Given the description of an element on the screen output the (x, y) to click on. 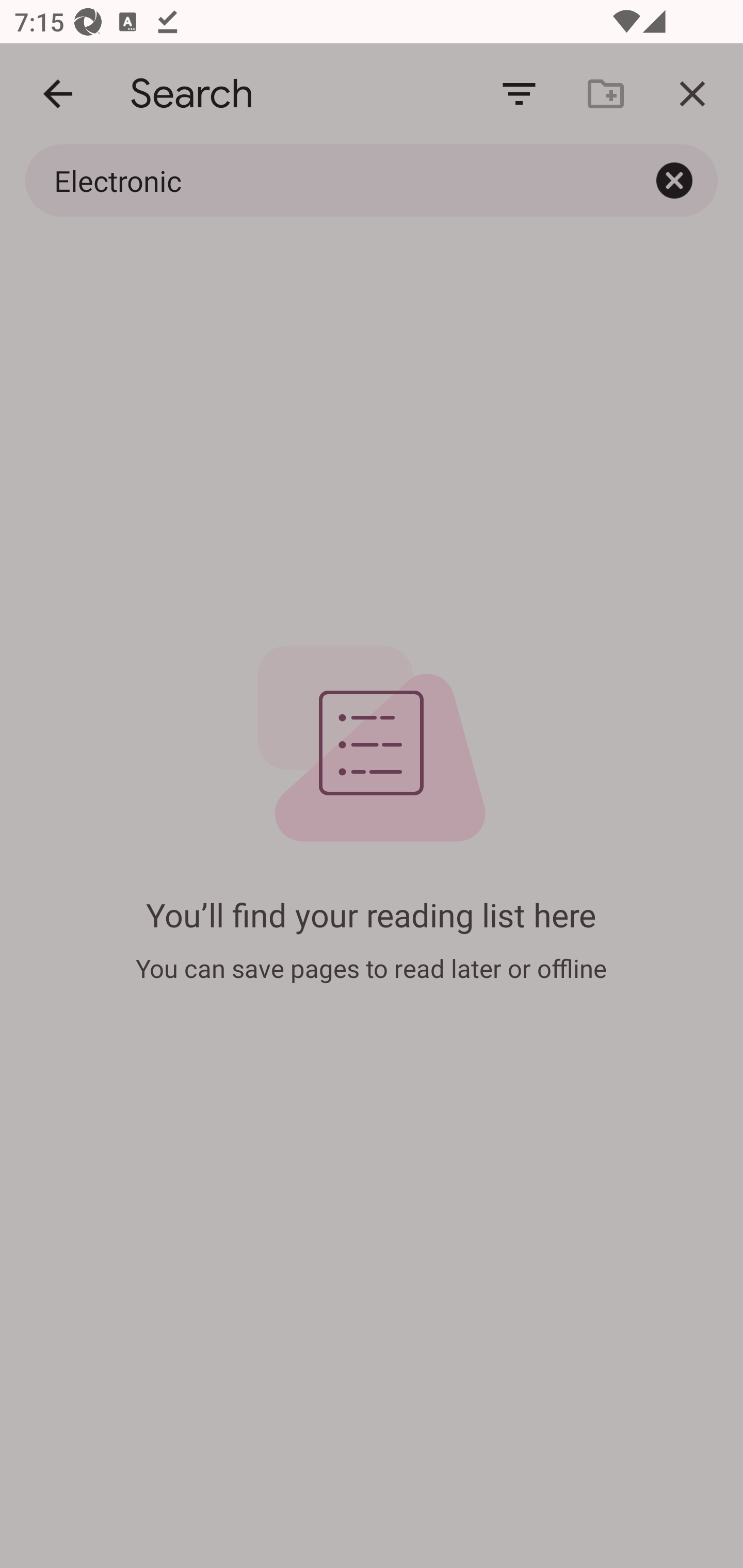
Go back (57, 93)
Sort and view options (518, 93)
Create new folder (605, 93)
Close dialog (692, 93)
Electronic (327, 180)
Clear input (673, 180)
